Given the description of an element on the screen output the (x, y) to click on. 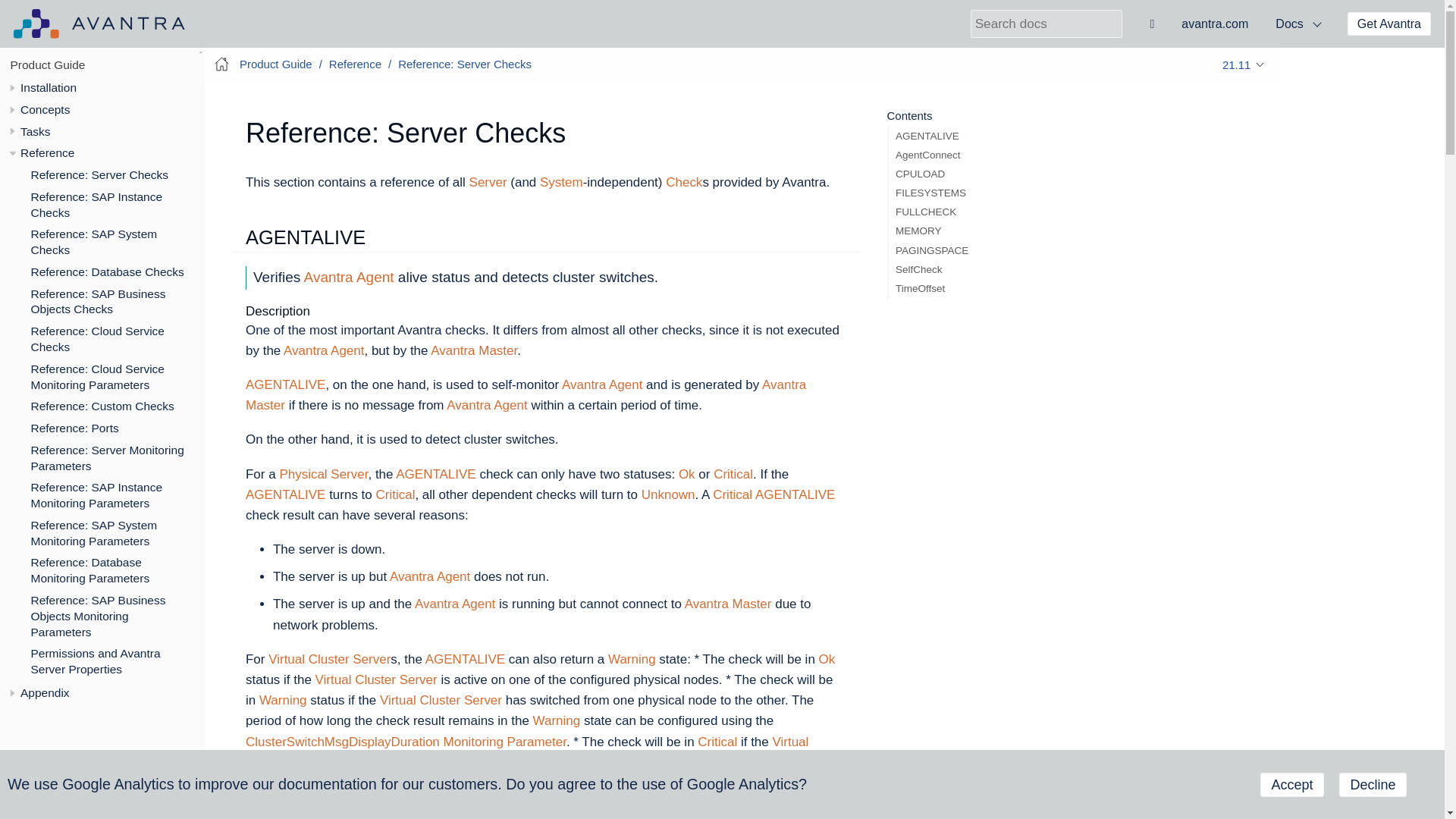
Show other versions of page (1243, 64)
Get Avantra (1389, 24)
Docs (1297, 23)
Product Guide (47, 64)
avantra.com (1214, 23)
